Given the description of an element on the screen output the (x, y) to click on. 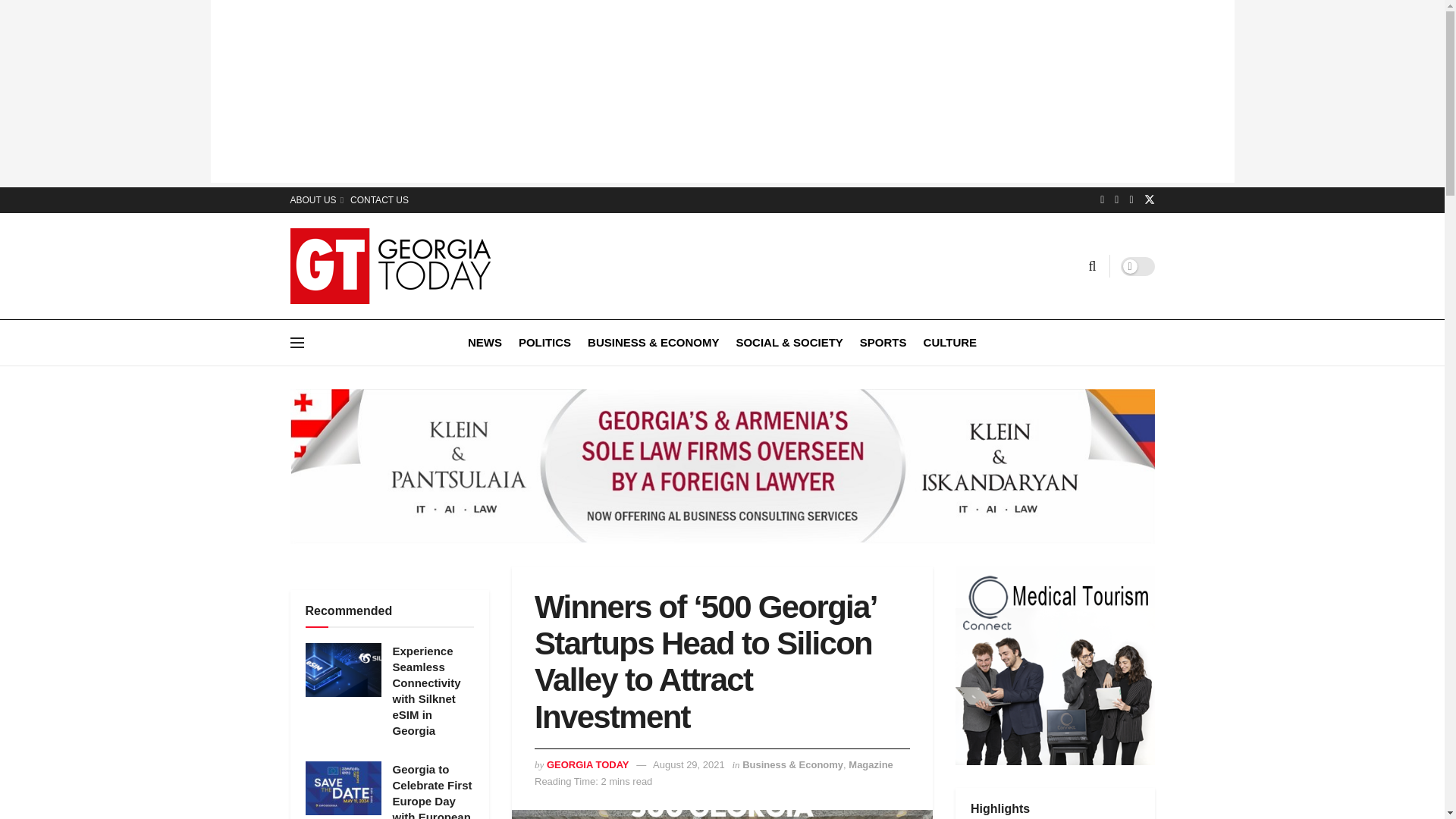
SPORTS (883, 341)
August 29, 2021 (688, 764)
POLITICS (544, 341)
ABOUT US (314, 199)
Magazine (870, 764)
GEORGIA TODAY (587, 764)
CONTACT US (379, 199)
CULTURE (949, 341)
NEWS (484, 341)
